Given the description of an element on the screen output the (x, y) to click on. 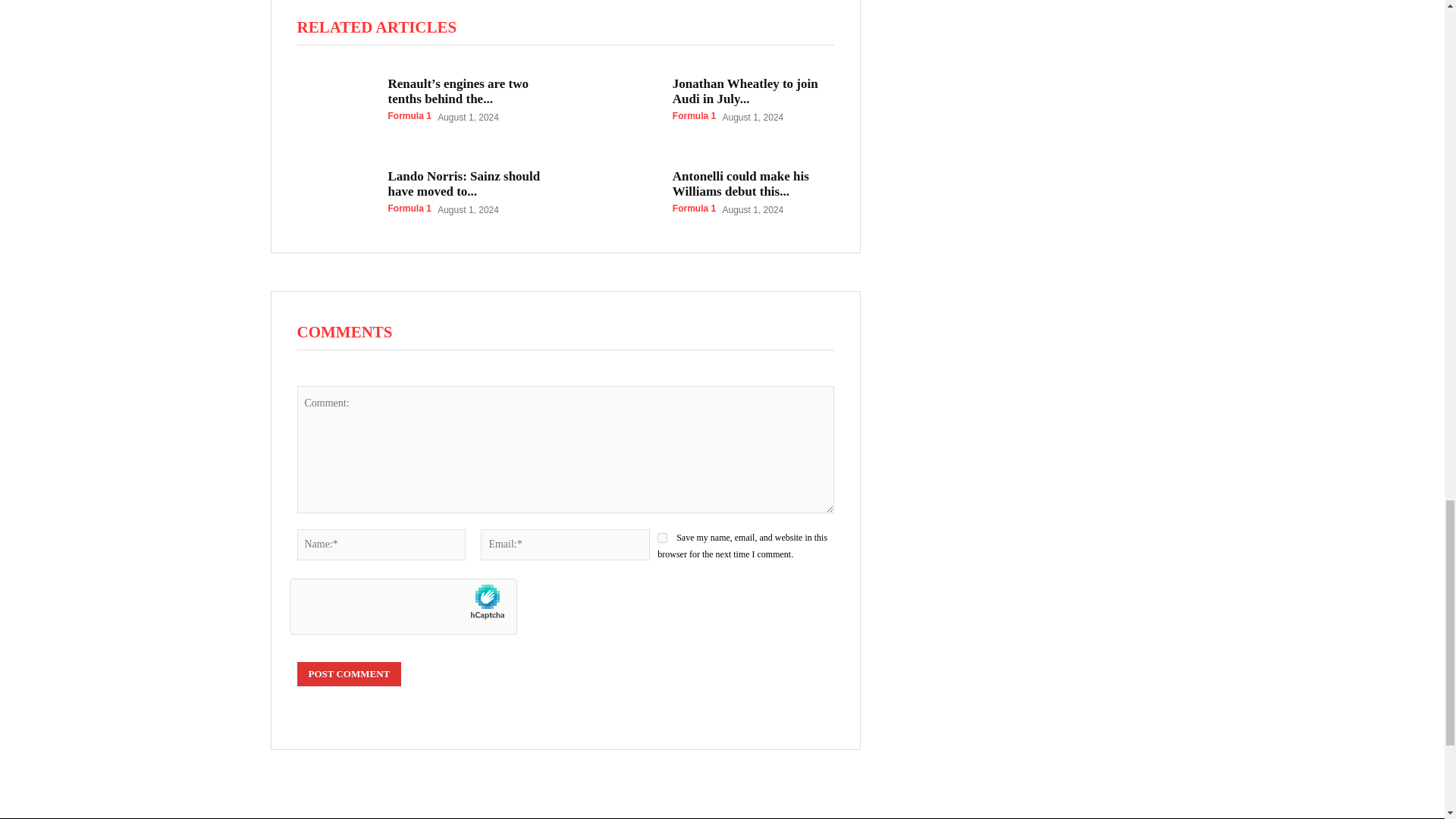
Post Comment (349, 673)
yes (662, 537)
